Given the description of an element on the screen output the (x, y) to click on. 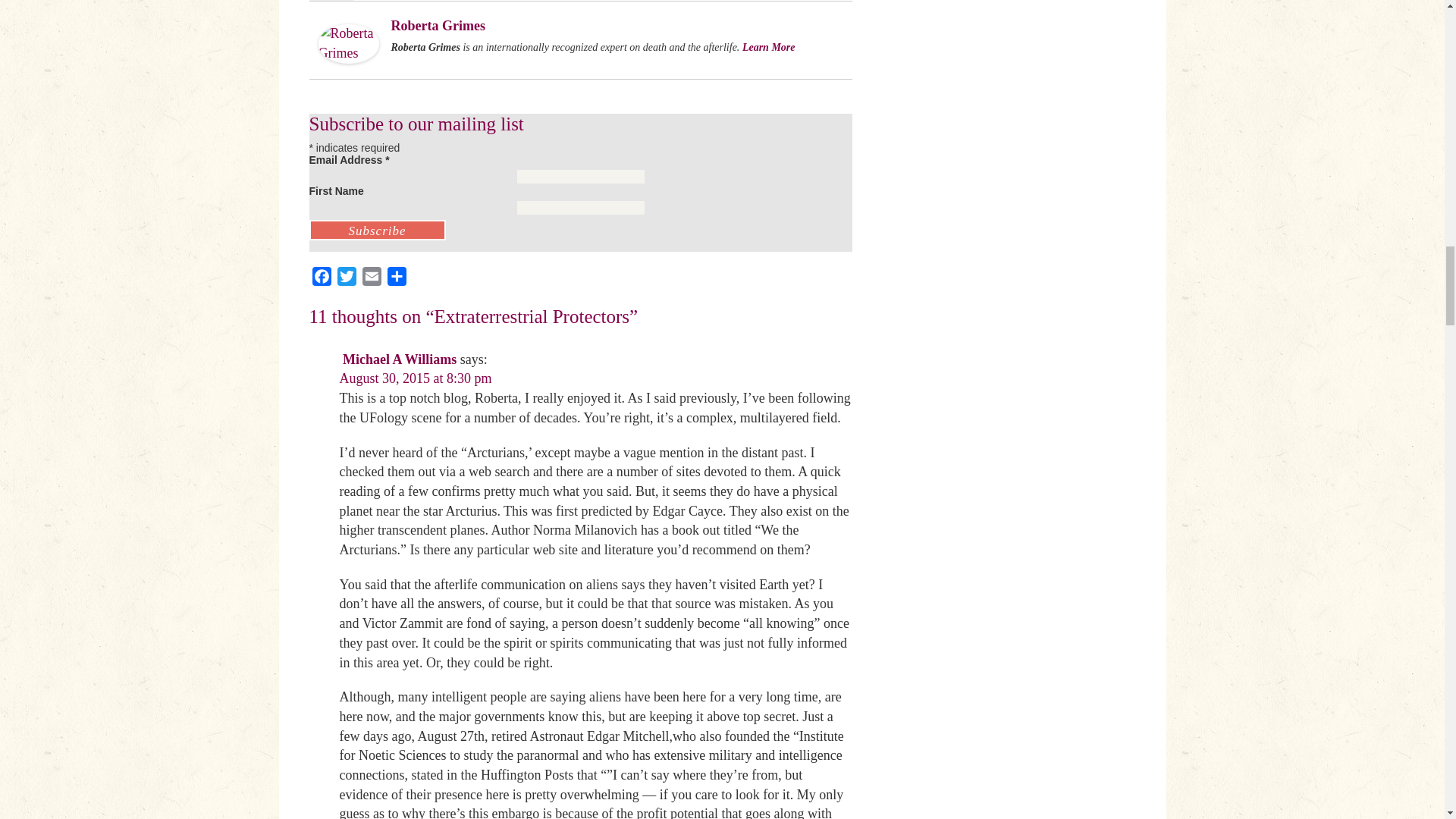
Roberta Grimes (437, 25)
Author (330, 0)
Facebook (321, 278)
Twitter (345, 278)
Subscribe (376, 230)
Learn More (768, 47)
Email (371, 278)
Subscribe (376, 230)
Roberta Grimes (348, 42)
